Given the description of an element on the screen output the (x, y) to click on. 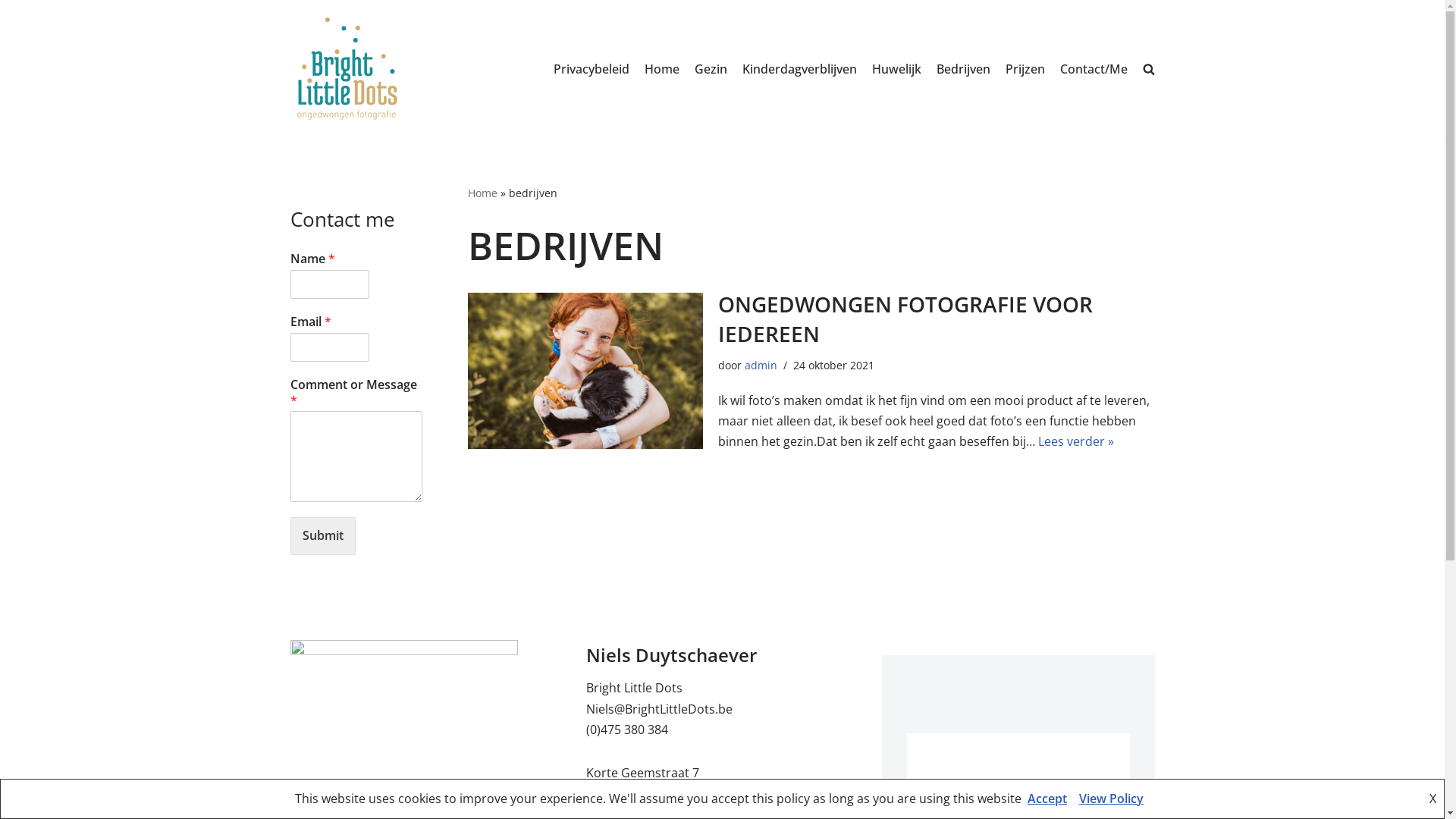
Ga naar de inhoud Element type: text (11, 31)
Privacybeleid Element type: text (591, 69)
Submit Element type: text (321, 535)
Accept Element type: text (1047, 798)
Contact/Me Element type: text (1093, 69)
admin Element type: text (760, 364)
Bedrijven Element type: text (962, 69)
Ongedwongen fotografie voor iedereen Element type: hover (584, 370)
ONGEDWONGEN FOTOGRAFIE VOOR IEDEREEN Element type: text (905, 318)
Gezin Element type: text (710, 69)
Prijzen Element type: text (1024, 69)
Home Element type: text (661, 69)
Kinderdagverblijven Element type: text (798, 69)
Home Element type: text (481, 192)
View Policy Element type: text (1111, 798)
Huwelijk Element type: text (896, 69)
